Given the description of an element on the screen output the (x, y) to click on. 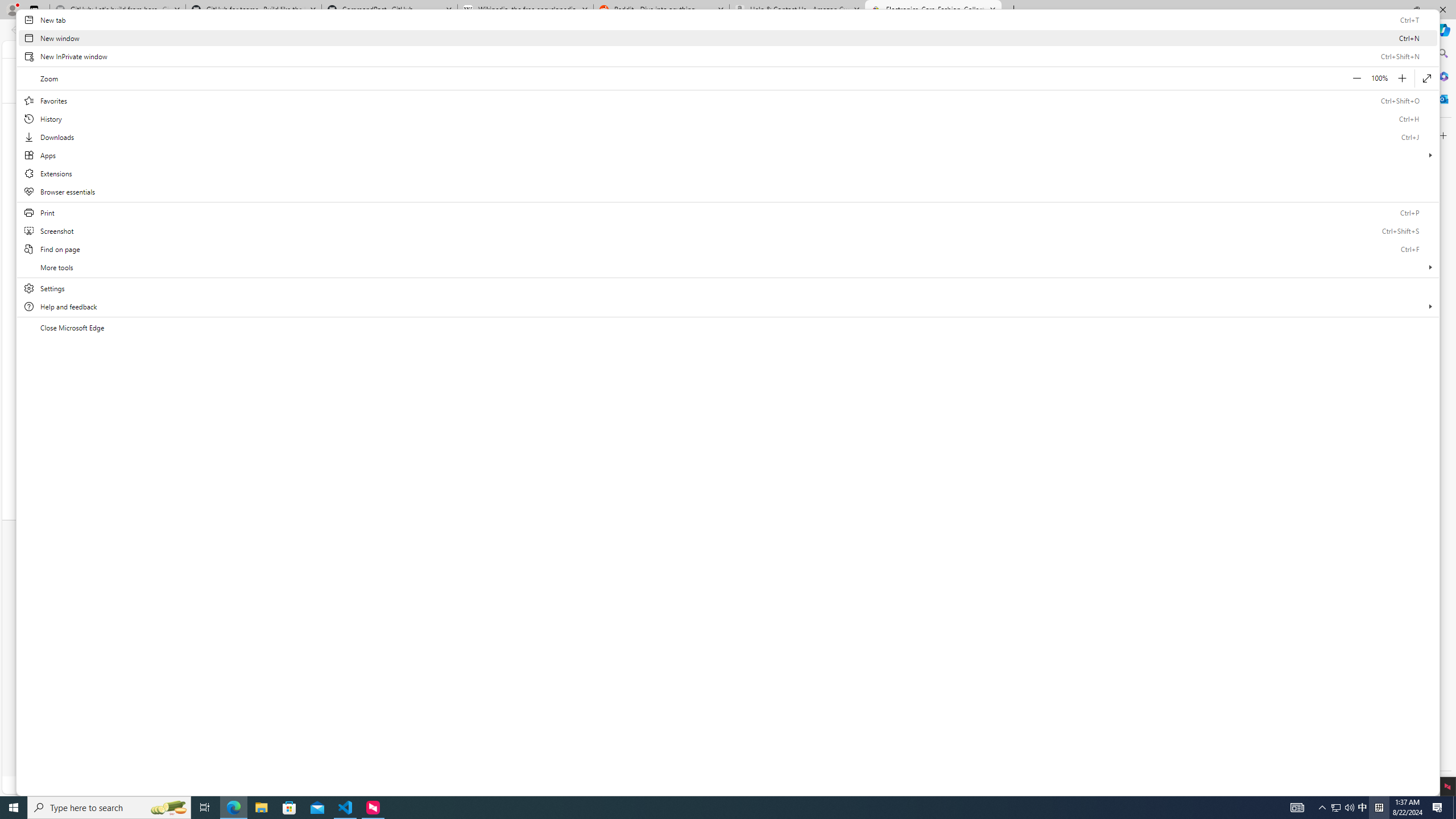
Watchlist (933, 49)
Industrial equipment (828, 112)
My eBay (985, 49)
Search for anything (659, 78)
Toys (1023, 433)
Collectibles and ArtExpand: Collectibles and Art (640, 112)
History (727, 118)
Side bar (1443, 418)
Screenshot (727, 230)
Bidding & buying help (394, 600)
Help and feedback (727, 306)
Twitter (703, 604)
Wikipedia, the free encyclopedia (525, 9)
